Given the description of an element on the screen output the (x, y) to click on. 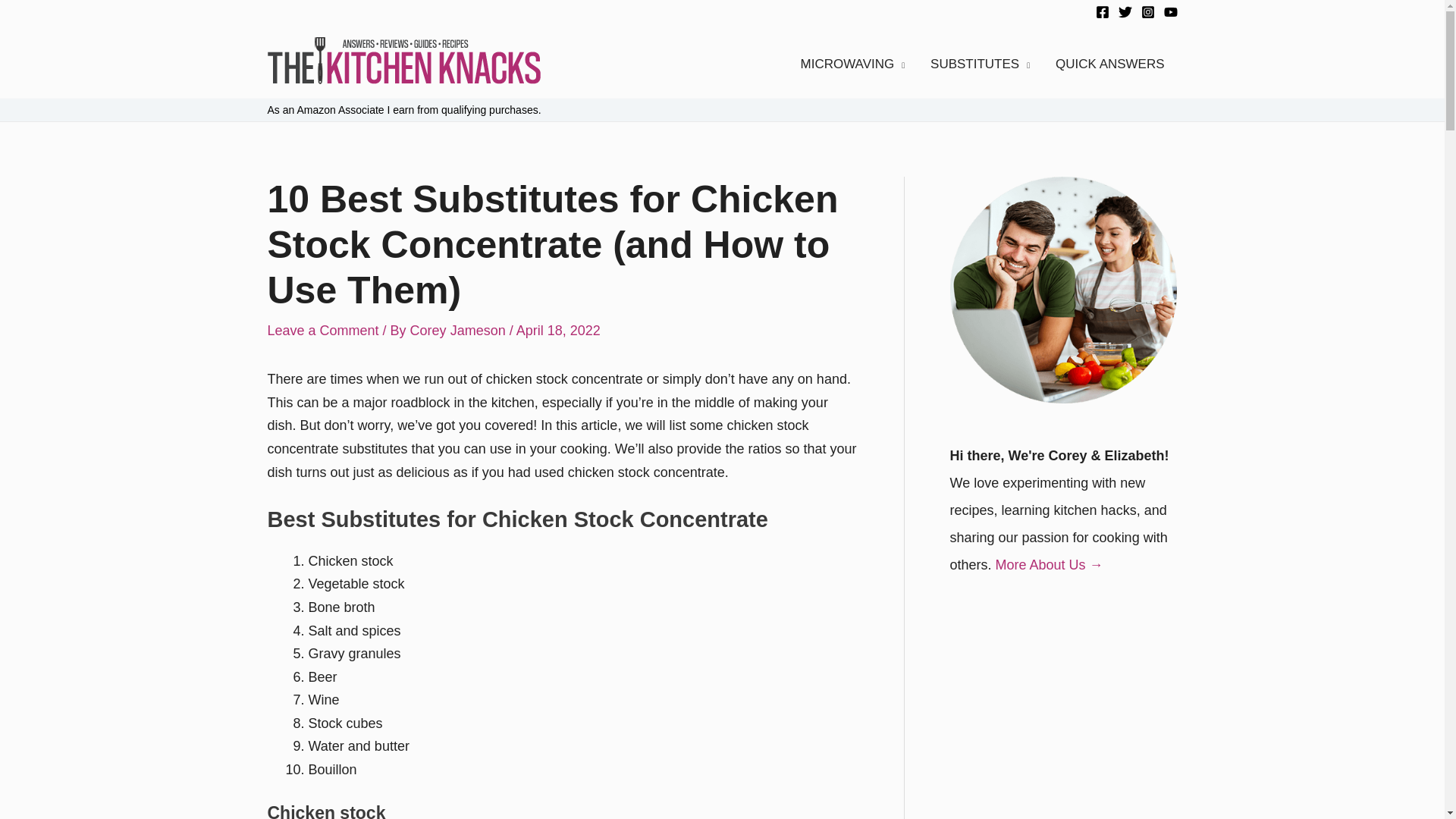
QUICK ANSWERS (1109, 64)
View all posts by Corey Jameson (459, 330)
SUBSTITUTES (979, 64)
MICROWAVING (852, 64)
